Given the description of an element on the screen output the (x, y) to click on. 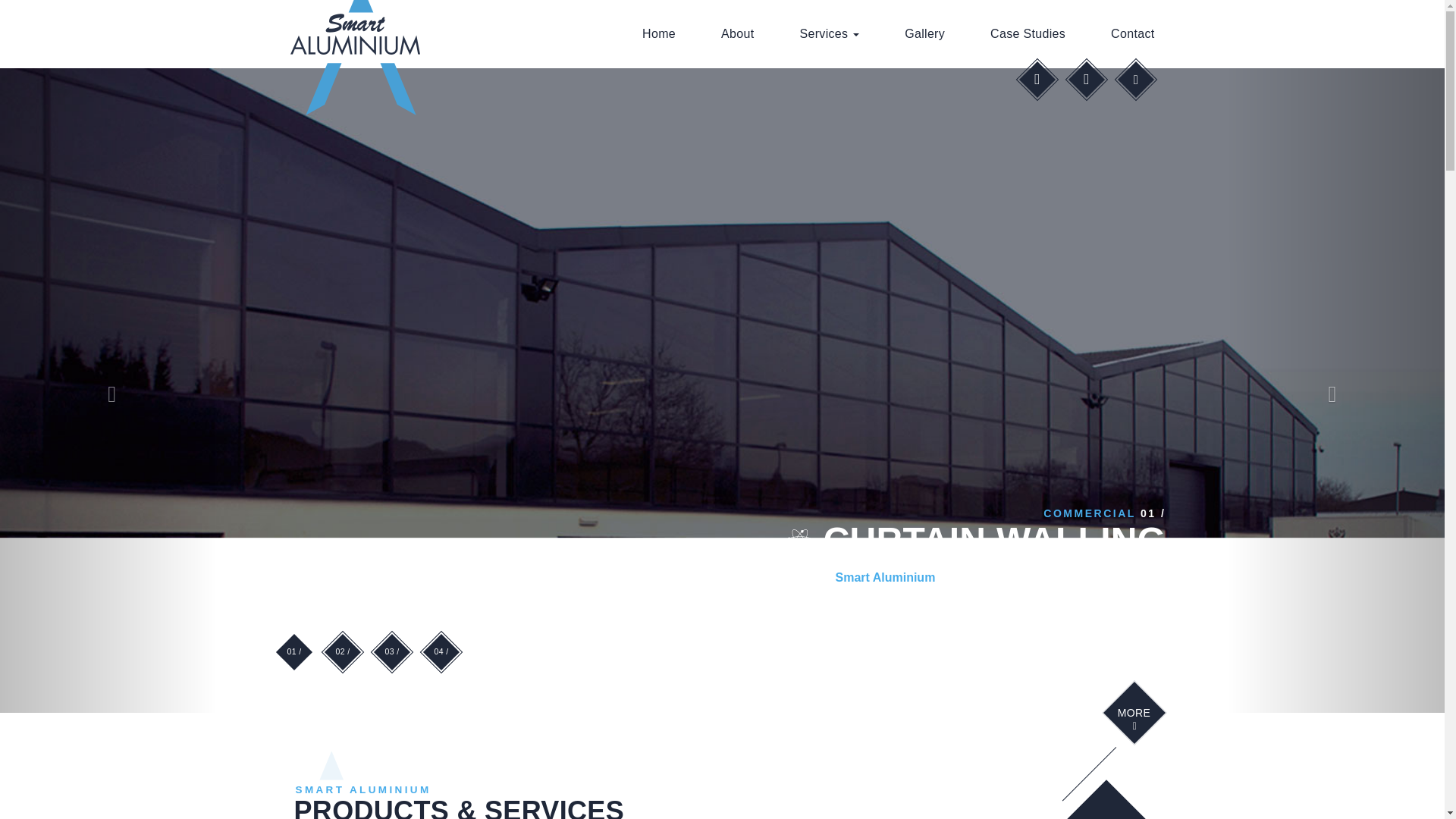
Gallery (925, 26)
Case Studies (1027, 26)
Home (659, 26)
Services (829, 26)
Contact (1131, 26)
About (737, 26)
MORE (1134, 718)
